Given the description of an element on the screen output the (x, y) to click on. 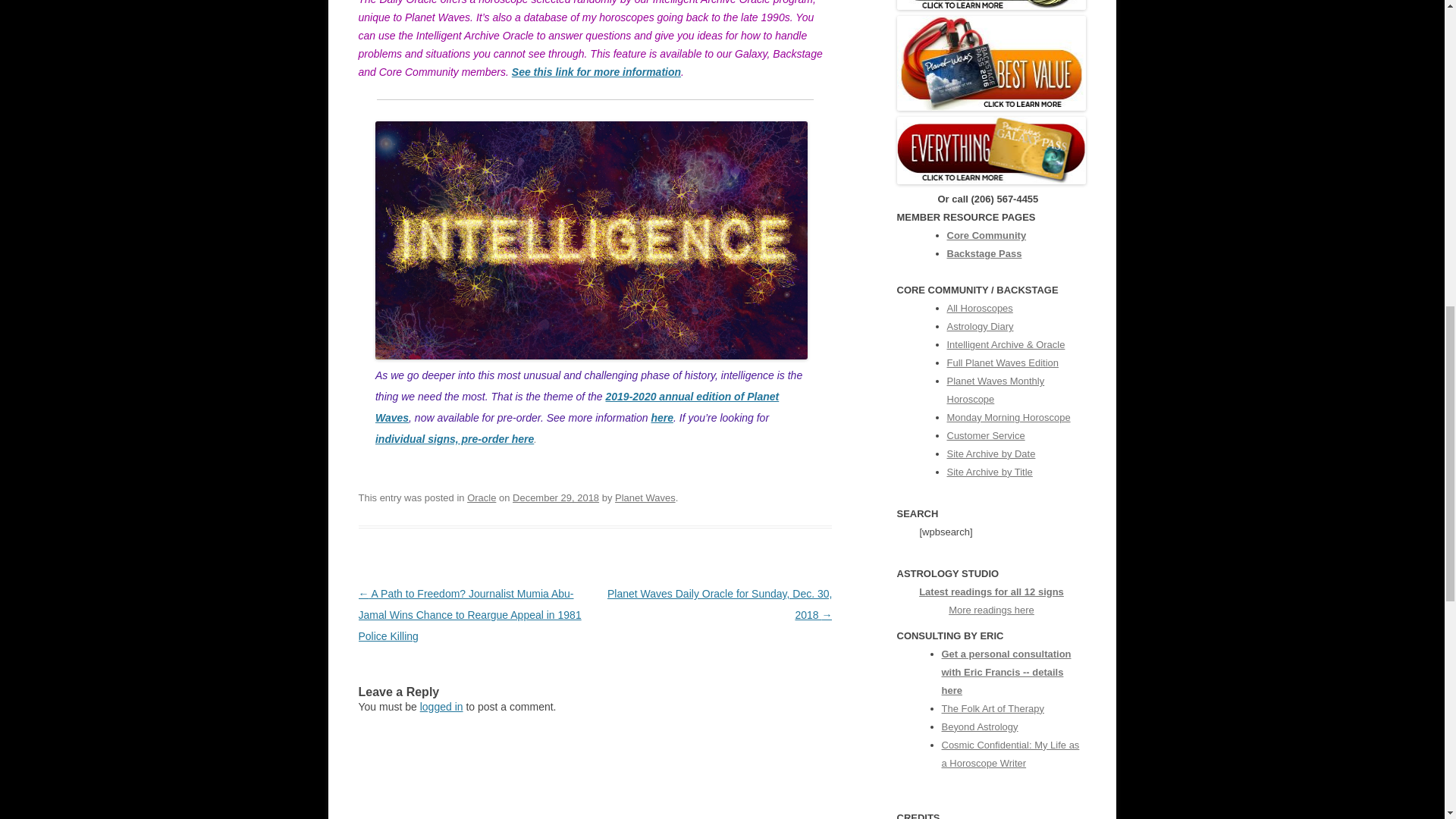
logged in (441, 706)
Oracle (481, 497)
View all posts by Planet Waves (644, 497)
individual signs, pre-order here (454, 439)
See this link for more information (596, 71)
2019-2020 annual edition of Planet Waves (576, 407)
here (661, 417)
Planet Waves (644, 497)
December 29, 2018 (555, 497)
12:00 am (555, 497)
